Given the description of an element on the screen output the (x, y) to click on. 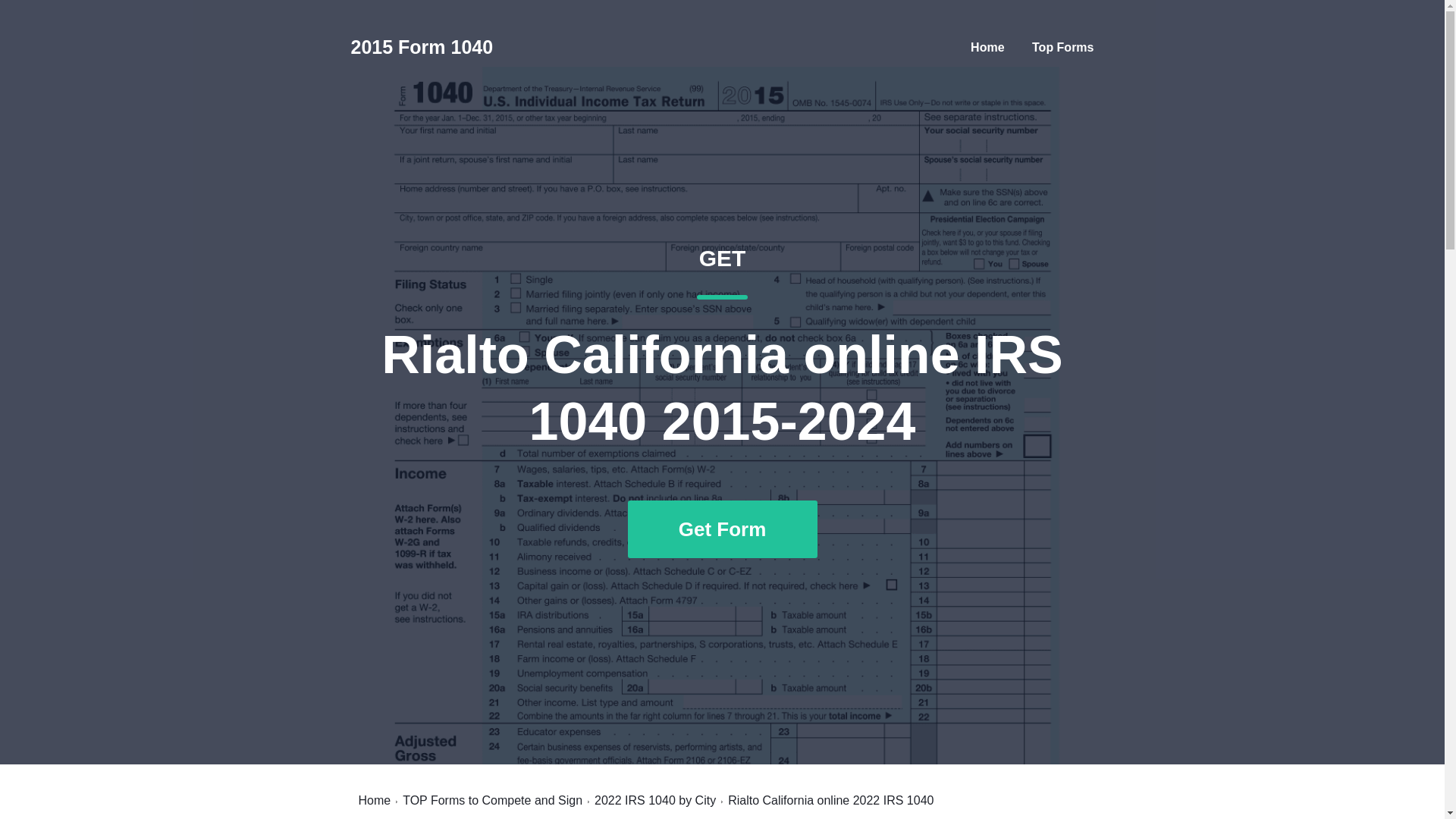
Home (374, 800)
2022 IRS 1040 by City (655, 800)
Top Forms (1062, 47)
TOP Forms to Compete and Sign (492, 800)
2015 Form 1040 (987, 47)
